Given the description of an element on the screen output the (x, y) to click on. 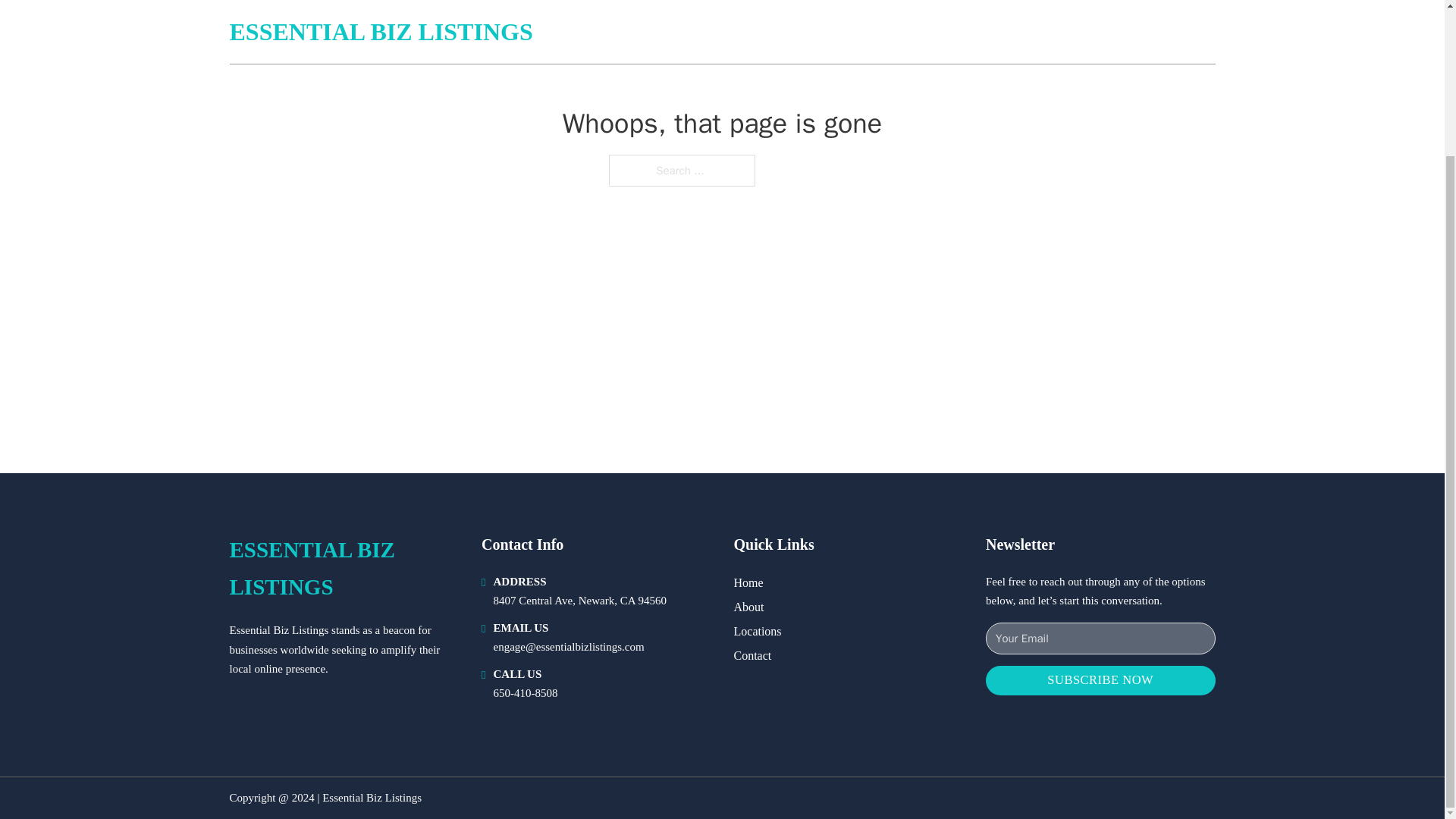
About (748, 607)
Home (747, 582)
Locations (757, 630)
Contact (752, 655)
ESSENTIAL BIZ LISTINGS (343, 568)
650-410-8508 (525, 693)
SUBSCRIBE NOW (1100, 680)
